Given the description of an element on the screen output the (x, y) to click on. 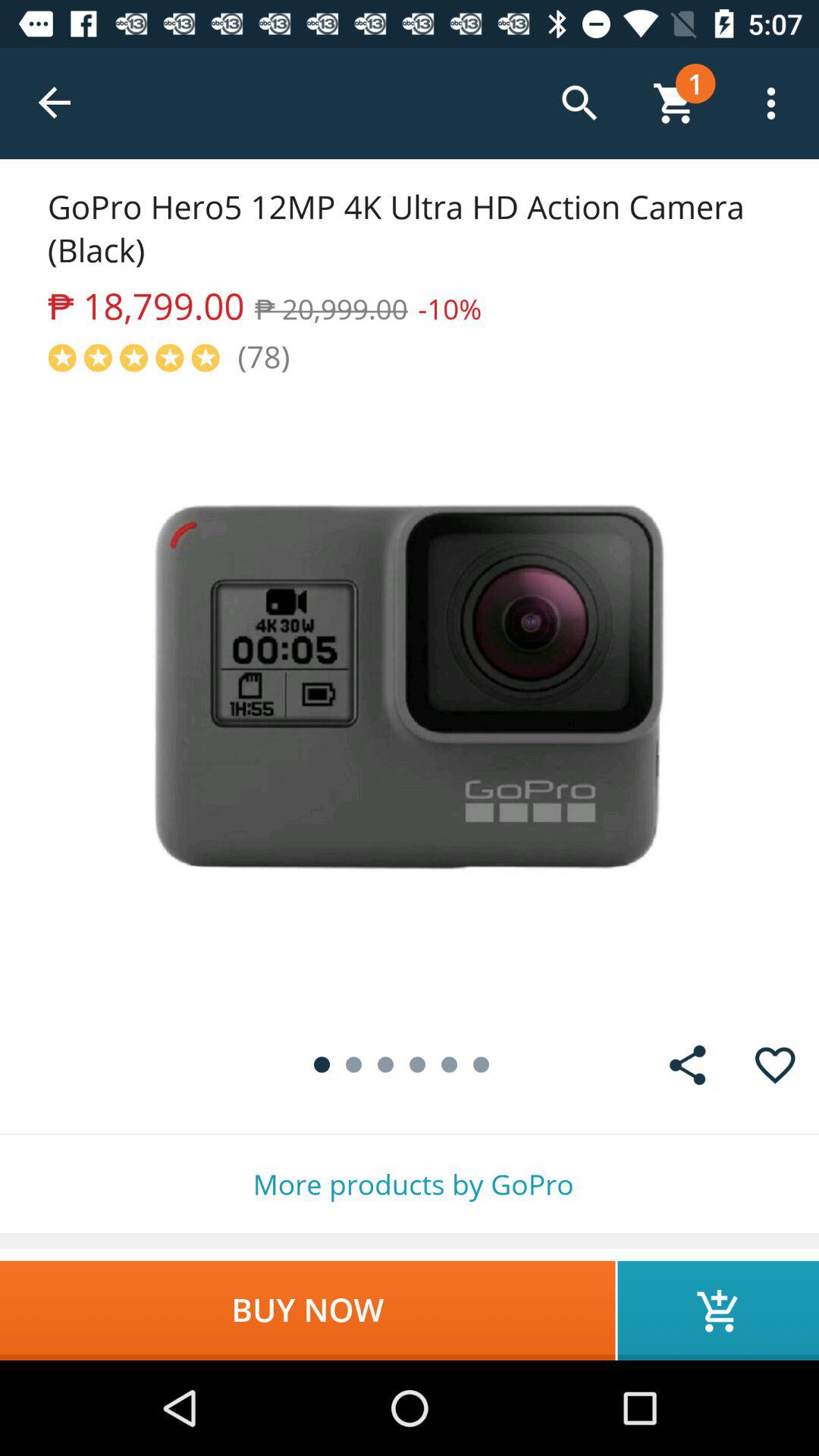
choose item below (78) item (409, 698)
